Given the description of an element on the screen output the (x, y) to click on. 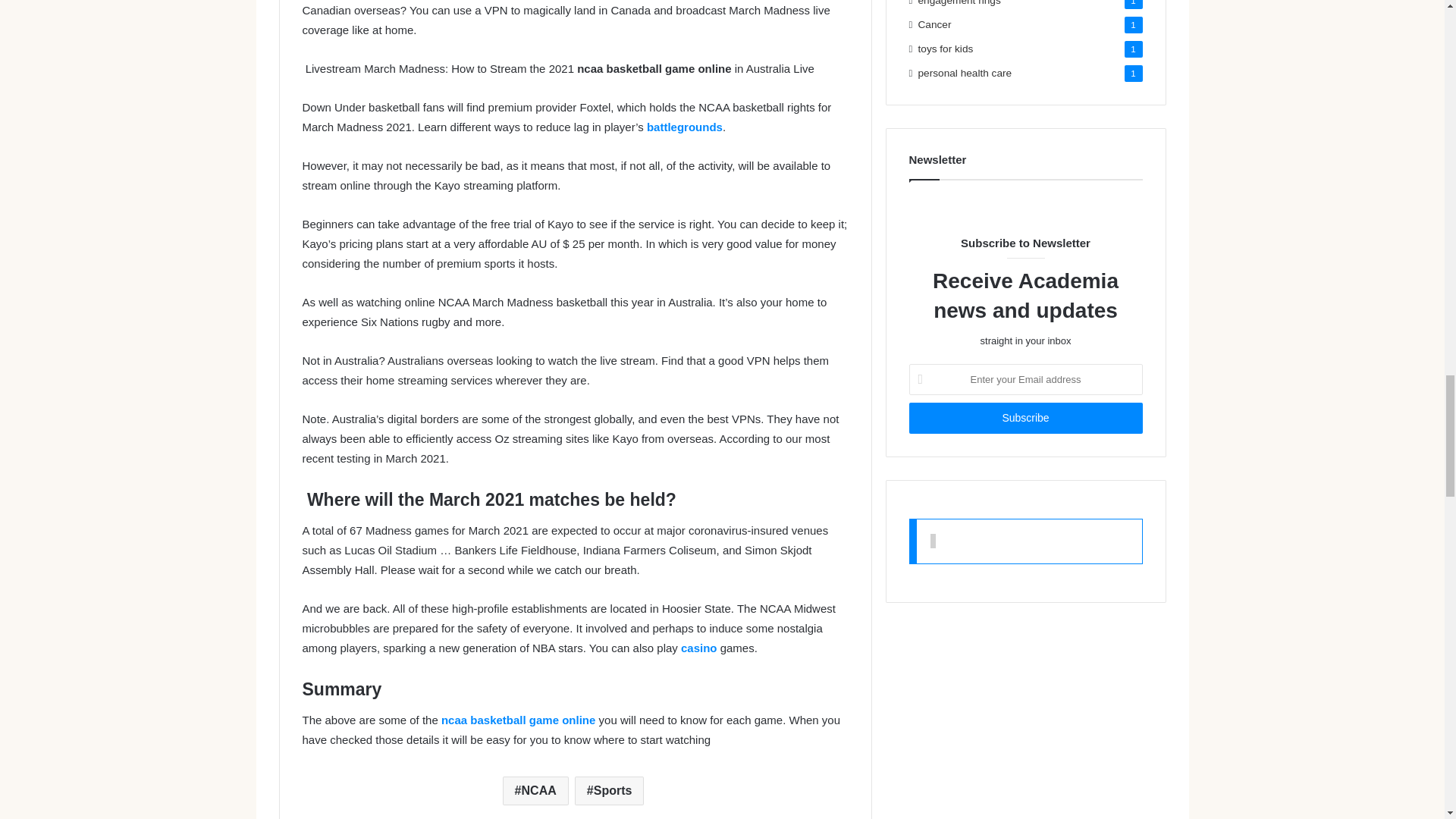
Sports (610, 790)
NCAA (535, 790)
ncaa basketball game online (518, 719)
Subscribe (1025, 418)
battlegrounds (684, 126)
casino (699, 647)
